Given the description of an element on the screen output the (x, y) to click on. 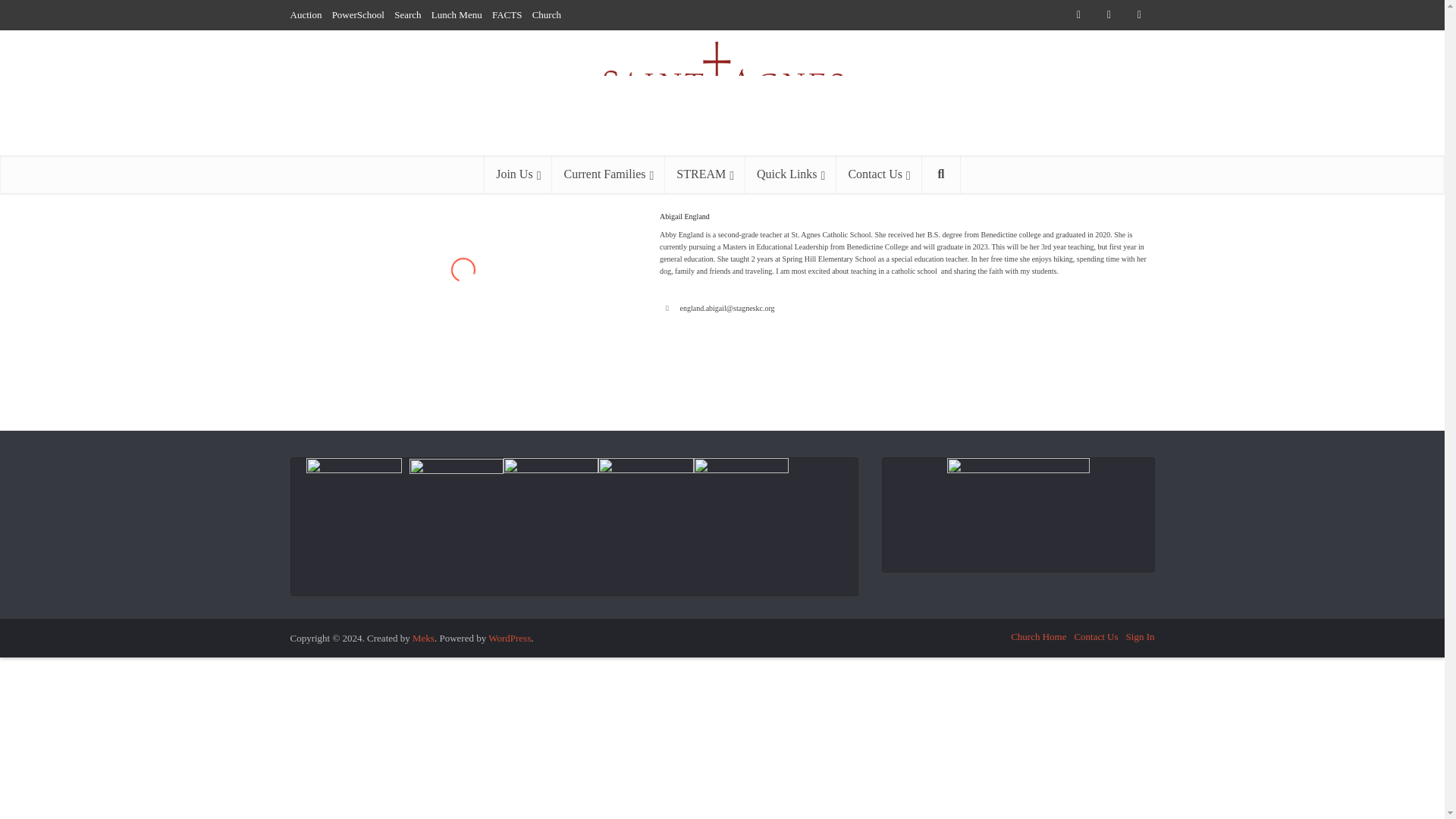
Search (407, 14)
Church (546, 14)
Auction (305, 14)
Lunch Menu (455, 14)
PowerSchool (357, 14)
Current Families (608, 174)
FACTS (507, 14)
Join Us (517, 174)
